Given the description of an element on the screen output the (x, y) to click on. 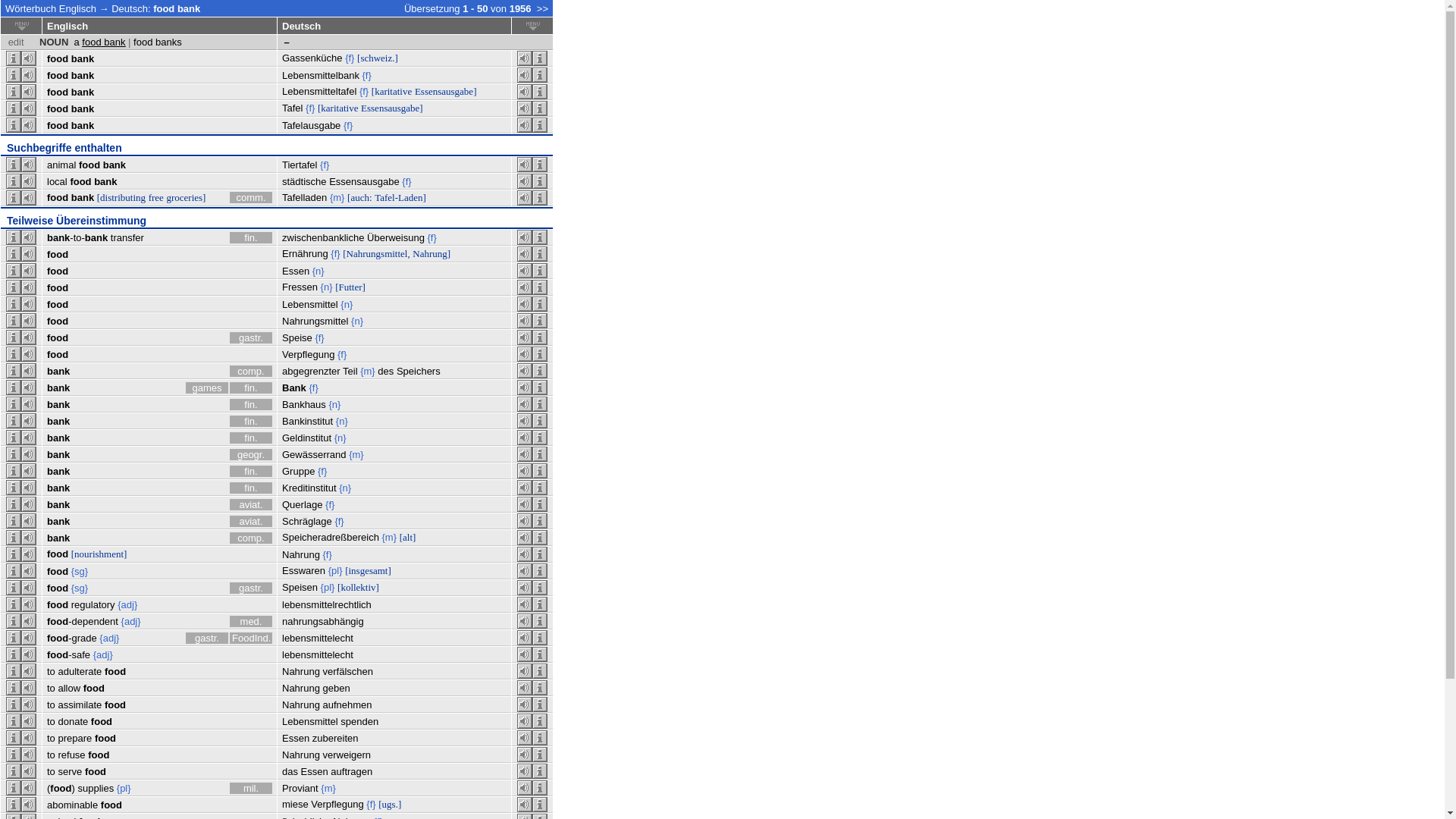
[karitative Element type: text (391, 91)
food Element type: text (93, 687)
lebensmittelecht Element type: text (317, 654)
food Element type: text (89, 164)
food Element type: text (57, 108)
food Element type: text (105, 737)
geben Element type: text (336, 687)
groceries] Element type: text (185, 197)
food banks Element type: text (157, 41)
Verpflegung Element type: text (308, 354)
lebensmittelecht Element type: text (317, 637)
Nahrungsmittel Element type: text (315, 320)
Fressen Element type: text (299, 286)
edit Element type: text (16, 41)
miese Element type: text (295, 803)
food Element type: text (57, 571)
food Element type: text (57, 91)
Lebensmittel Element type: text (310, 304)
Essensausgabe] Element type: text (391, 107)
bank Element type: text (58, 454)
Tafelausgabe Element type: text (311, 125)
food Element type: text (114, 704)
food Element type: text (57, 604)
assimilate Element type: text (79, 704)
food bank Element type: text (176, 8)
Tafel Element type: text (292, 107)
Nahrung Element type: text (301, 704)
gastr. Element type: text (250, 587)
Tiertafel Element type: text (299, 164)
Querlage Element type: text (302, 504)
geogr. Element type: text (250, 454)
food Element type: text (57, 553)
auftragen Element type: text (351, 771)
abominable Element type: text (72, 804)
Bankinstitut Element type: text (307, 420)
food Element type: text (101, 721)
aufnehmen Element type: text (347, 704)
Tafelladen Element type: text (304, 197)
food Element type: text (57, 254)
bank Element type: text (58, 370)
Speise Element type: text (297, 337)
bank Element type: text (58, 537)
FoodInd. Element type: text (250, 637)
donate Element type: text (72, 721)
lebensmittelrechtlich Element type: text (326, 604)
(food) Element type: text (61, 787)
bank Element type: text (58, 504)
[schweiz.] Element type: text (377, 57)
food Element type: text (57, 125)
bank Element type: text (58, 404)
bank-to-bank Element type: text (77, 237)
Lebensmitteltafel Element type: text (319, 91)
food Element type: text (57, 270)
bank Element type: text (82, 58)
Proviant Element type: text (300, 787)
[Nahrungsmittel, Element type: text (375, 253)
bank Element type: text (58, 387)
Essen Element type: text (295, 270)
bank Element type: text (82, 108)
adulterate Element type: text (79, 671)
mil. Element type: text (250, 787)
Bankhaus Element type: text (304, 404)
food Element type: text (57, 304)
Tafel-Laden] Element type: text (400, 197)
food Element type: text (98, 754)
[alt] Element type: text (407, 536)
comp. Element type: text (250, 370)
food-safe Element type: text (68, 654)
food Element type: text (57, 320)
med. Element type: text (250, 621)
aviat. Element type: text (250, 504)
free Element type: text (155, 197)
bank Element type: text (82, 75)
food Element type: text (57, 337)
zwischenbankliche Element type: text (323, 237)
gastr. Element type: text (206, 637)
Nahrung Element type: text (301, 754)
fin. Element type: text (250, 437)
bank Element type: text (58, 420)
Nahrung Element type: text (301, 554)
games Element type: text (206, 387)
[auch: Element type: text (359, 197)
food Element type: text (57, 587)
[karitative Element type: text (337, 107)
[distributing Element type: text (121, 197)
food Element type: text (95, 771)
Verpflegung Element type: text (336, 803)
food Element type: text (57, 287)
bank Element type: text (58, 437)
fin. Element type: text (250, 487)
Speichers Element type: text (418, 370)
das Element type: text (290, 771)
>> Element type: text (542, 8)
food-dependent Element type: text (82, 621)
gastr. Element type: text (250, 337)
Gruppe Element type: text (298, 470)
serve Element type: text (69, 771)
fin. Element type: text (250, 404)
supplies Element type: text (95, 787)
Teil Element type: text (349, 370)
bank Element type: text (82, 91)
Lebensmittelbank Element type: text (320, 75)
bank Element type: text (58, 470)
food Element type: text (57, 354)
bank Element type: text (58, 487)
[ugs.] Element type: text (389, 803)
Esswaren Element type: text (303, 570)
bank Element type: text (82, 125)
allow Element type: text (68, 687)
food Element type: text (111, 804)
Geldinstitut Element type: text (306, 437)
refuse Element type: text (70, 754)
Essensausgabe] Element type: text (445, 91)
comp. Element type: text (250, 537)
food Element type: text (57, 58)
Kreditinstitut Element type: text (309, 487)
[nourishment] Element type: text (99, 553)
fin. Element type: text (250, 237)
food-grade Element type: text (72, 637)
prepare Element type: text (74, 737)
bank Element type: text (114, 164)
[insgesamt] Element type: text (368, 570)
[Futter] Element type: text (350, 286)
fin. Element type: text (250, 470)
Essen Element type: text (295, 737)
animal Element type: text (61, 164)
Bank Element type: text (294, 387)
food Element type: text (80, 181)
transfer Element type: text (127, 237)
regulatory Element type: text (93, 604)
bank Element type: text (82, 197)
bank Element type: text (105, 181)
a food bank Element type: text (99, 41)
fin. Element type: text (250, 420)
food Element type: text (57, 75)
Speisen Element type: text (299, 587)
fin. Element type: text (250, 387)
spenden Element type: text (359, 721)
[kollektiv] Element type: text (358, 587)
Nahrung Element type: text (301, 671)
Lebensmittel Element type: text (310, 721)
bank Element type: text (58, 521)
food Element type: text (57, 197)
des Element type: text (385, 370)
Nahrung] Element type: text (431, 253)
Essen Element type: text (314, 771)
verweigern Element type: text (347, 754)
local Element type: text (57, 181)
comm. Element type: text (250, 197)
Essensausgabe Element type: text (364, 181)
aviat. Element type: text (250, 521)
food Element type: text (114, 671)
zubereiten Element type: text (335, 737)
Nahrung Element type: text (301, 687)
abgegrenzter Element type: text (311, 370)
